Given the description of an element on the screen output the (x, y) to click on. 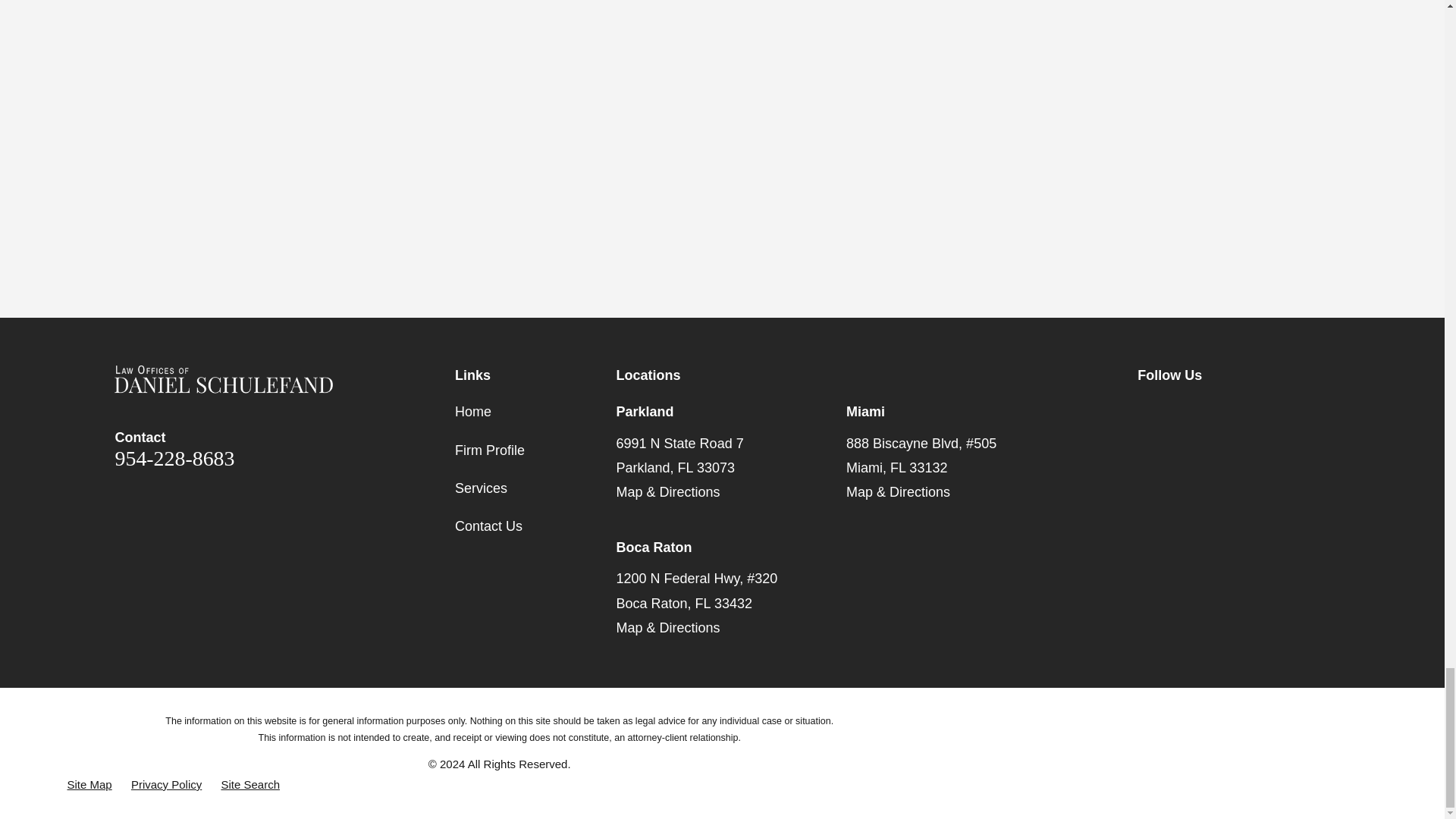
Google Business Profile (1216, 408)
Home (224, 379)
Twitter (1181, 408)
Facebook (1146, 408)
